Given the description of an element on the screen output the (x, y) to click on. 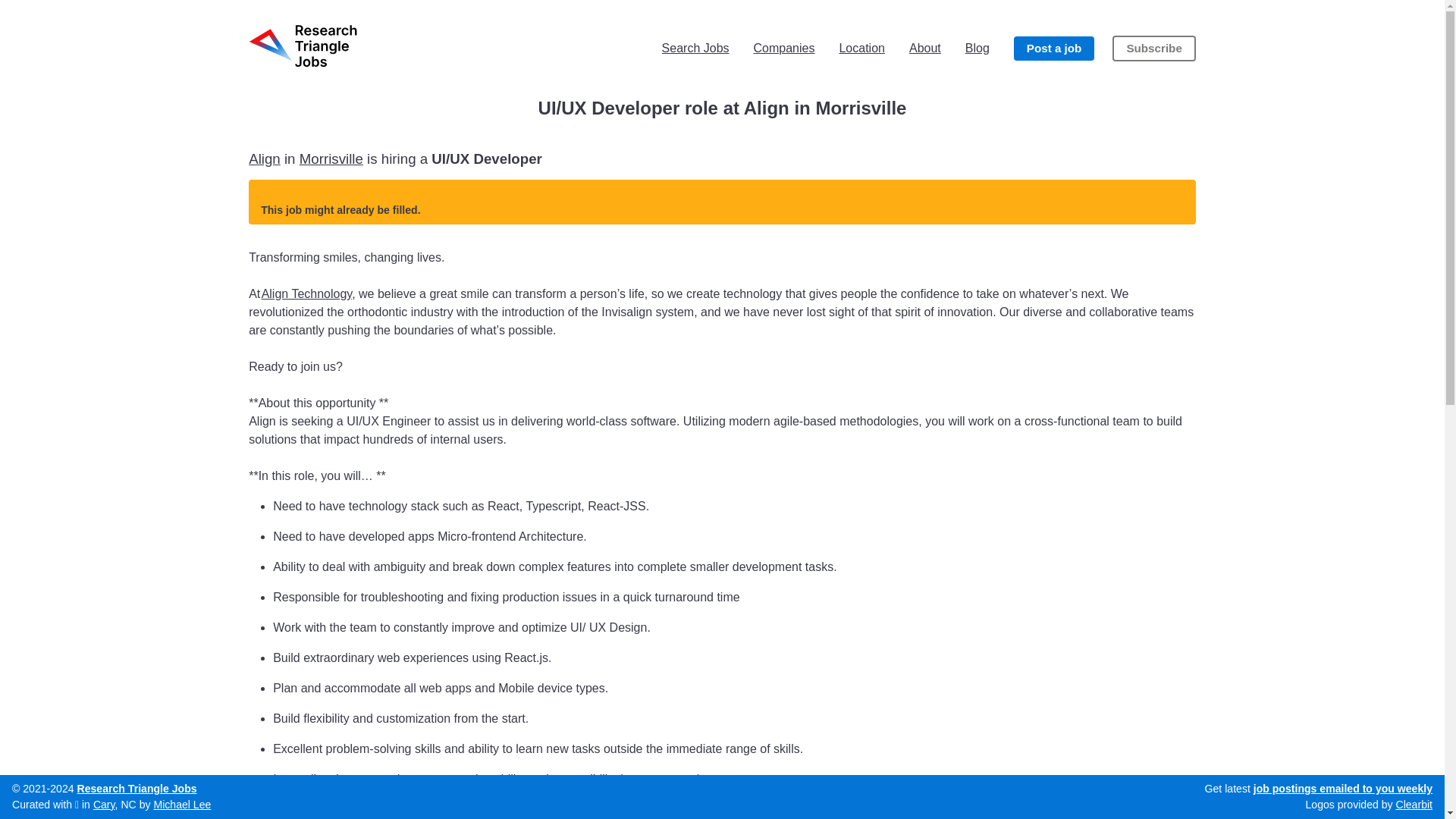
Search Jobs (695, 48)
Location (861, 48)
Blog (977, 48)
Post a job (1053, 48)
Morrisville (330, 158)
Subscribe (1153, 49)
Research Triangle Jobs (136, 788)
Michael Lee (181, 804)
Clearbit (1413, 804)
About (924, 48)
job postings emailed to you weekly (1342, 788)
Cary (104, 804)
Companies (784, 48)
Align Technology (307, 293)
Align (264, 158)
